Given the description of an element on the screen output the (x, y) to click on. 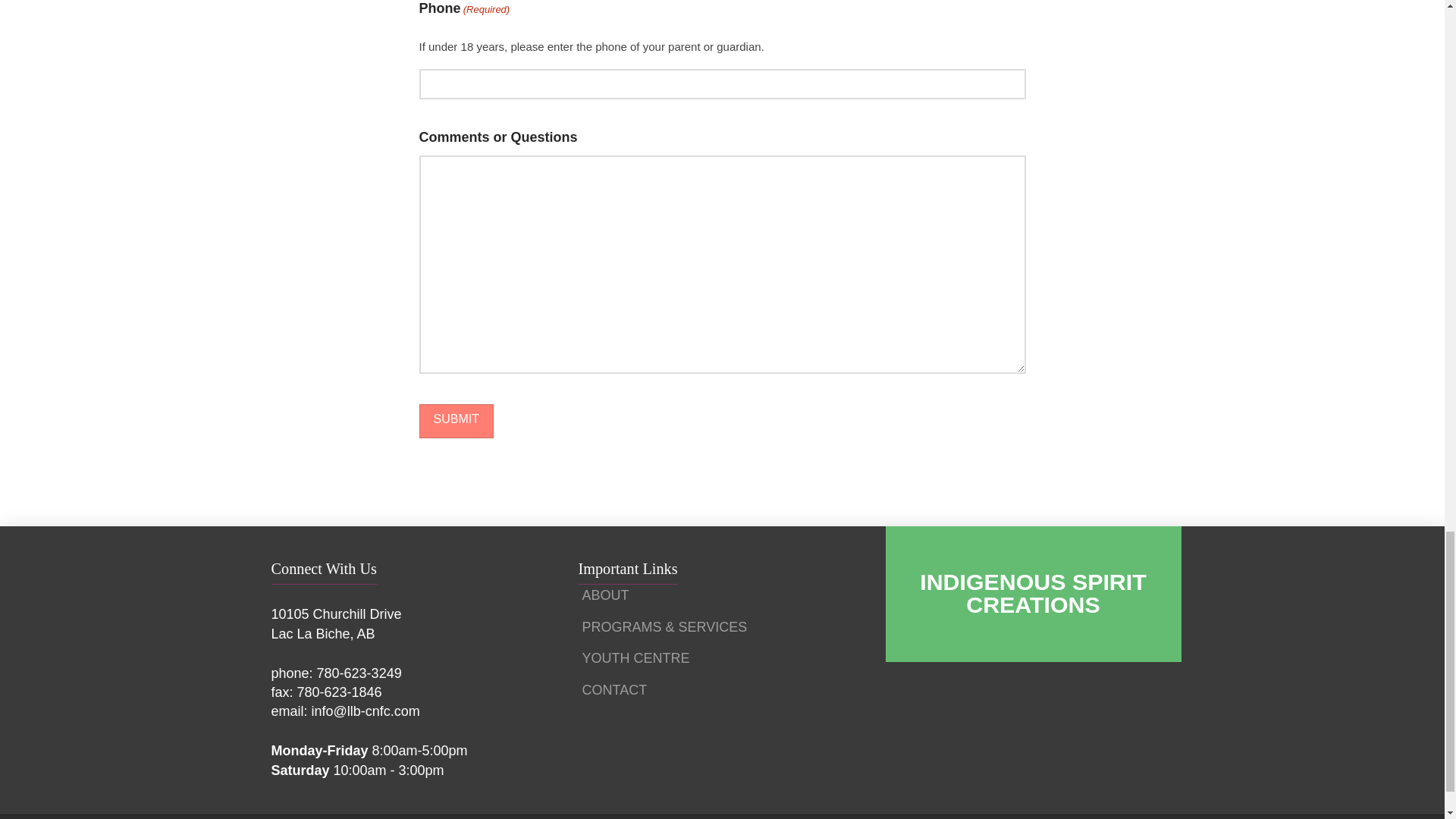
SUBMIT (456, 421)
INDIGENOUS SPIRIT CREATIONS (1032, 593)
780-623-3249 (359, 672)
CONTACT (619, 695)
SUBMIT (456, 421)
YOUTH CENTRE (640, 663)
ABOUT (610, 600)
